Given the description of an element on the screen output the (x, y) to click on. 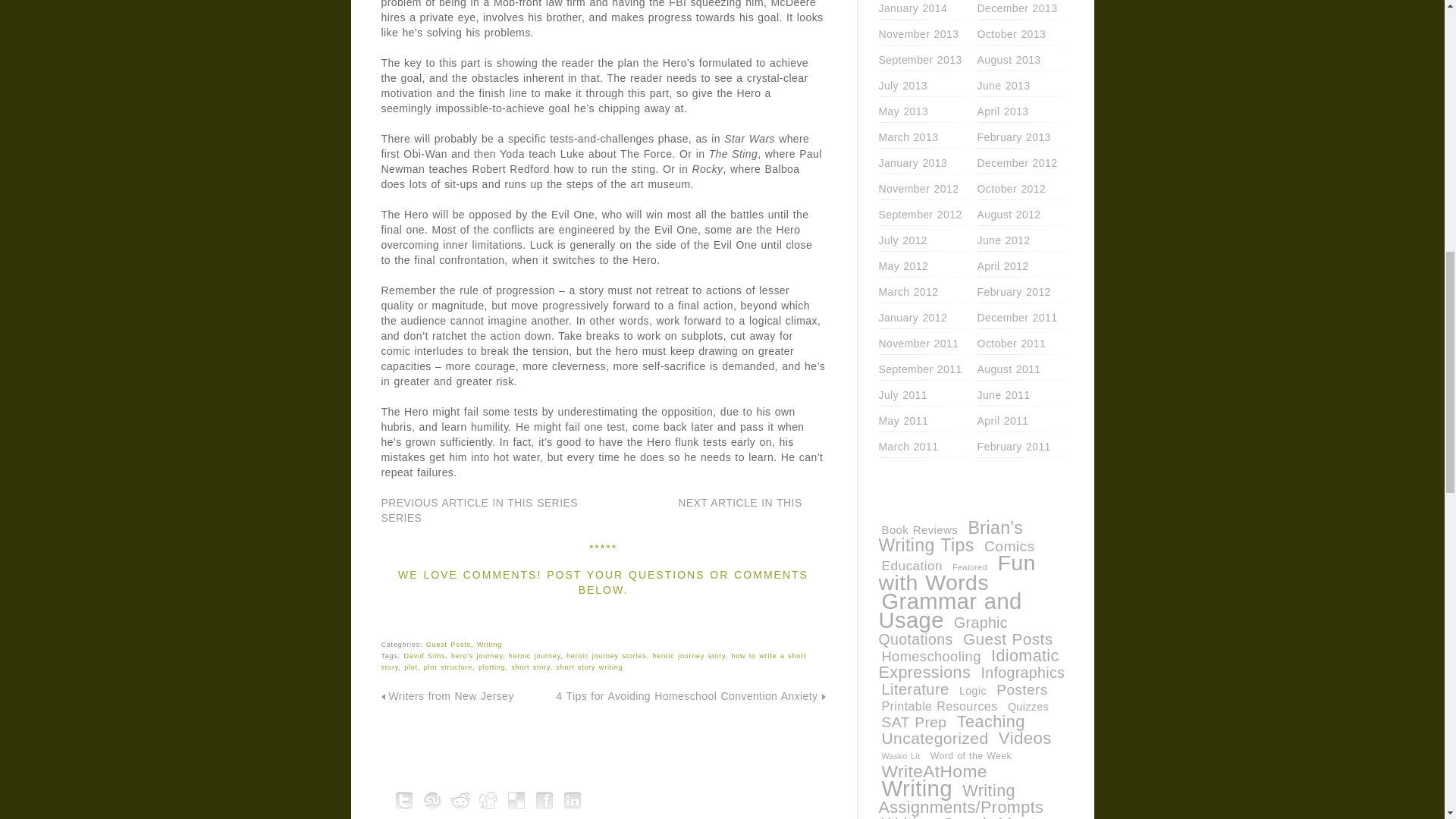
NEXT ARTICLE IN THIS SERIES (591, 510)
plot (410, 666)
PREVIOUS ARTICLE IN THIS SERIES (478, 502)
short story (530, 666)
Writing (489, 644)
David Sims (424, 655)
The Heroic Journey, Part 17: The First Reversal (478, 502)
heroic journey stories (606, 655)
heroic journey (534, 655)
plot structure (447, 666)
